Given the description of an element on the screen output the (x, y) to click on. 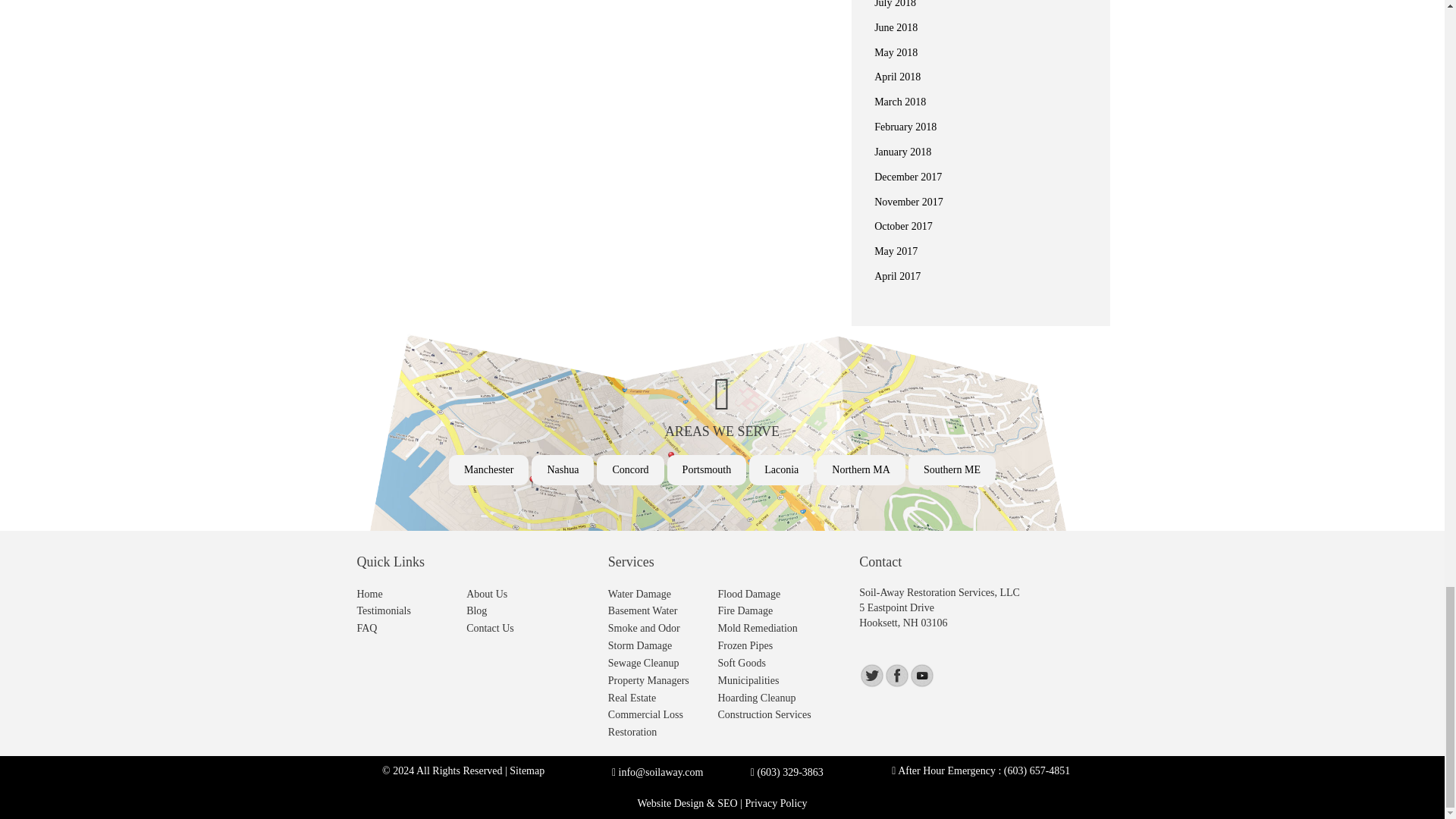
Visit Us On Youtube (921, 674)
Visit Us On Facebook (895, 674)
Visit Us On Twitter (871, 674)
